Given the description of an element on the screen output the (x, y) to click on. 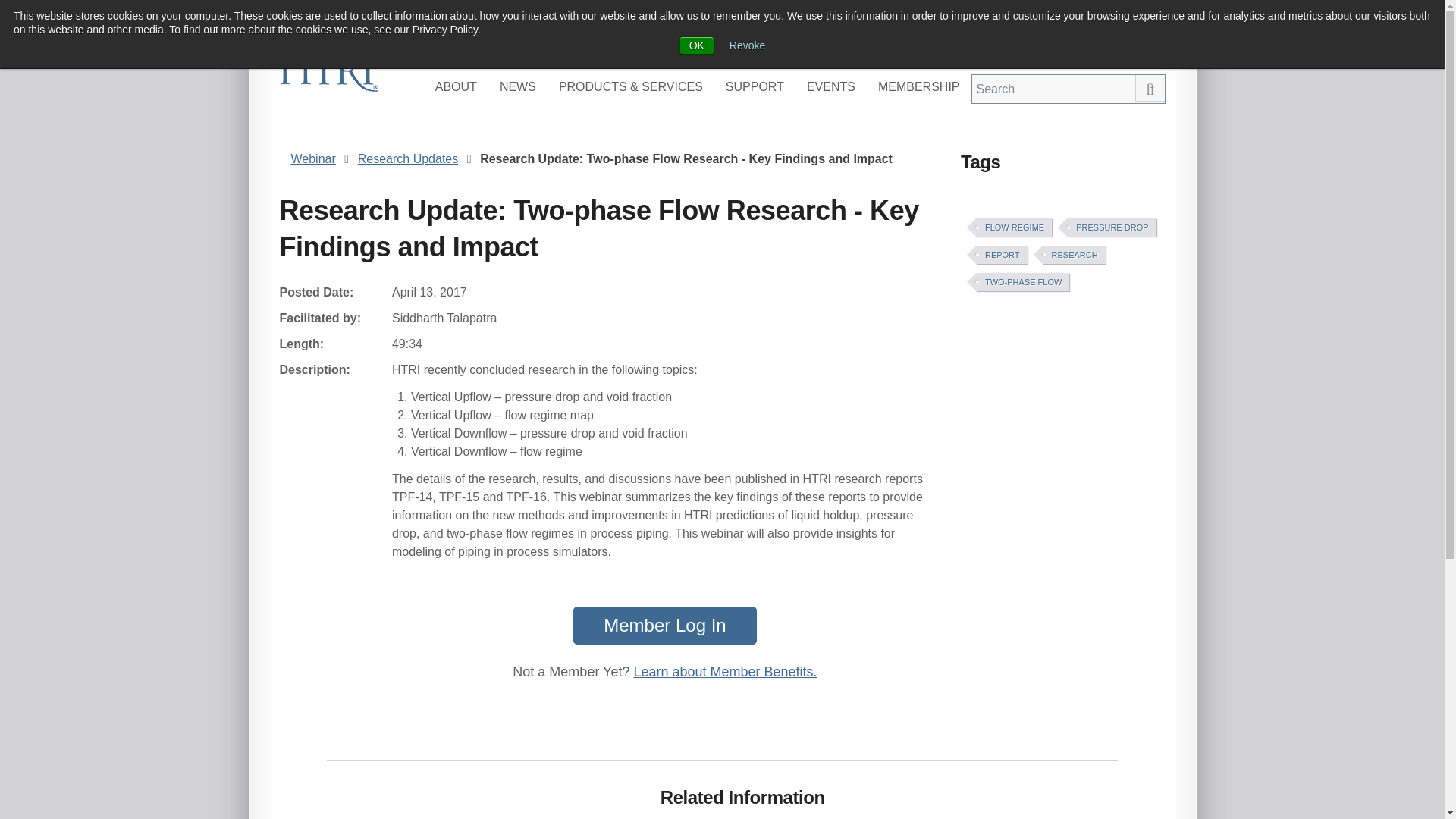
Create Account (1119, 48)
Green Efforts (903, 48)
Go to HTRI Home (328, 70)
NEWS (517, 86)
Log In (1045, 48)
Contact Us (984, 48)
ABOUT (455, 86)
Revoke (747, 45)
OK (696, 45)
